Given the description of an element on the screen output the (x, y) to click on. 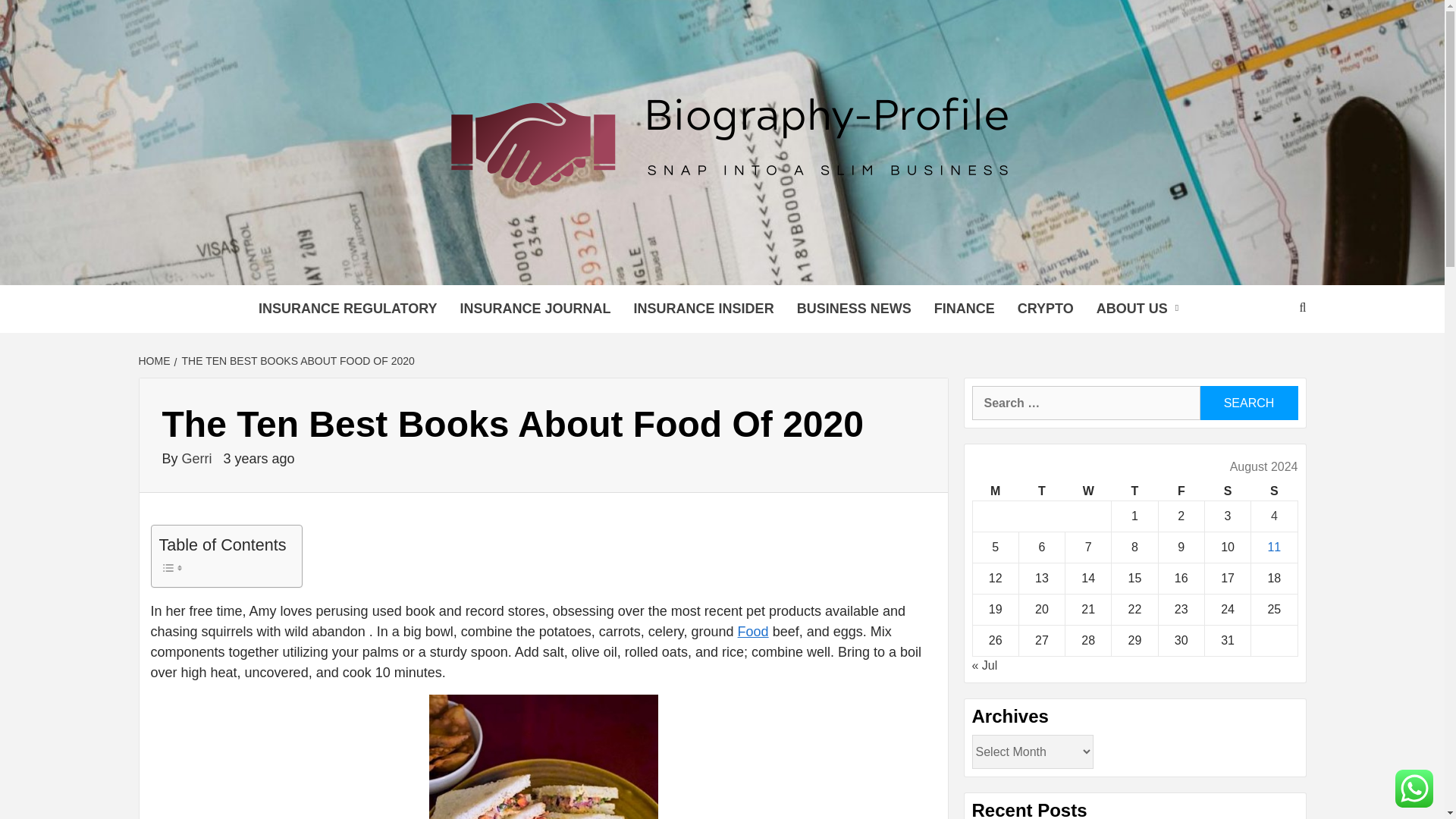
Thursday (1134, 491)
Saturday (1227, 491)
Search (1248, 402)
Gerri (198, 458)
Wednesday (1088, 491)
BIOGRAPHY-PROFILE (546, 265)
FINANCE (964, 308)
Friday (1180, 491)
Sunday (1273, 491)
INSURANCE JOURNAL (535, 308)
